Given the description of an element on the screen output the (x, y) to click on. 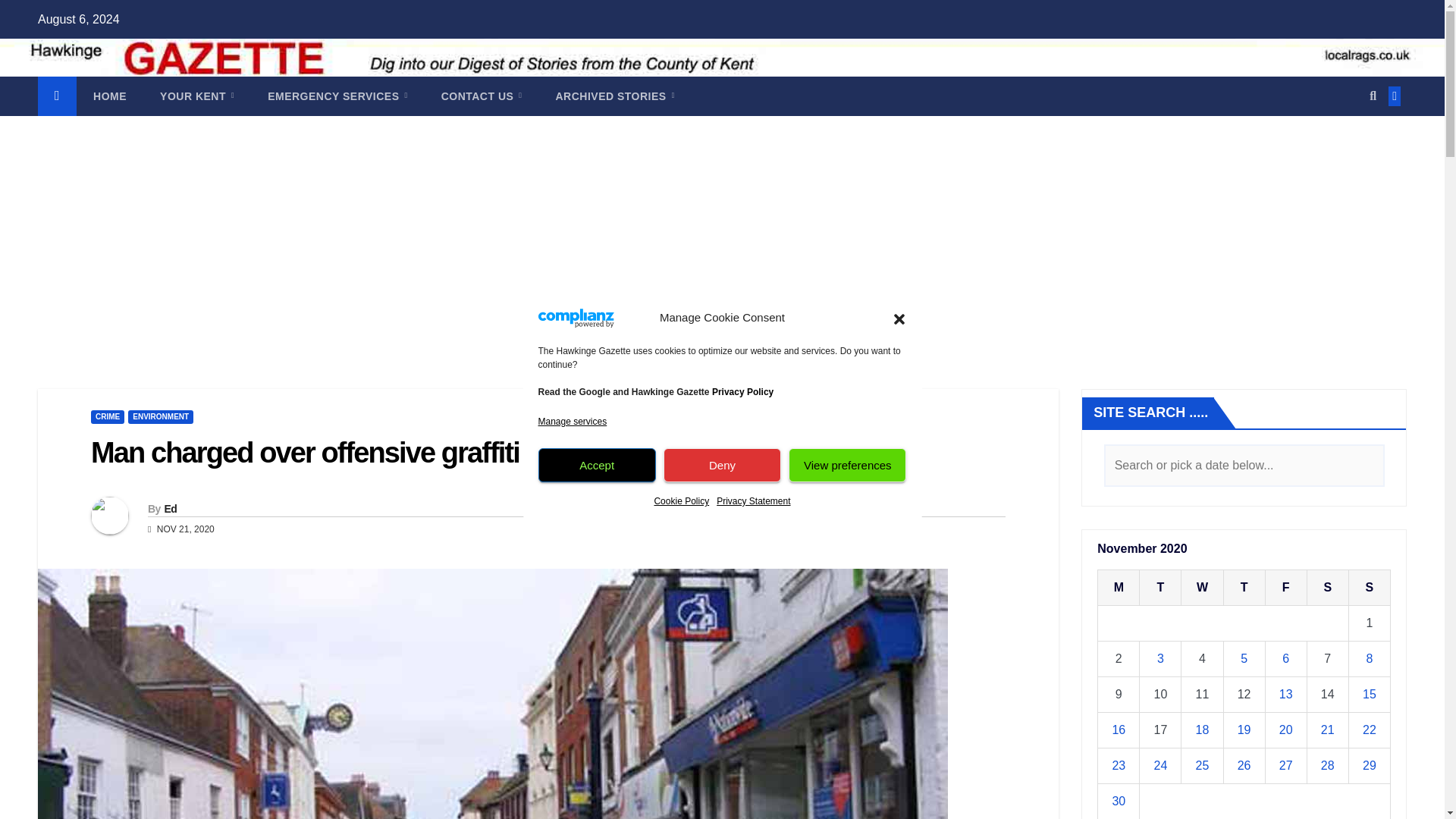
Cookie Policy (681, 500)
View preferences (847, 464)
YOUR KENT (196, 96)
Manage services (572, 421)
Privacy Policy (742, 391)
Accept (597, 464)
Deny (721, 464)
YOUR KENT (196, 96)
Privacy Statement (753, 500)
HOME (109, 96)
